Given the description of an element on the screen output the (x, y) to click on. 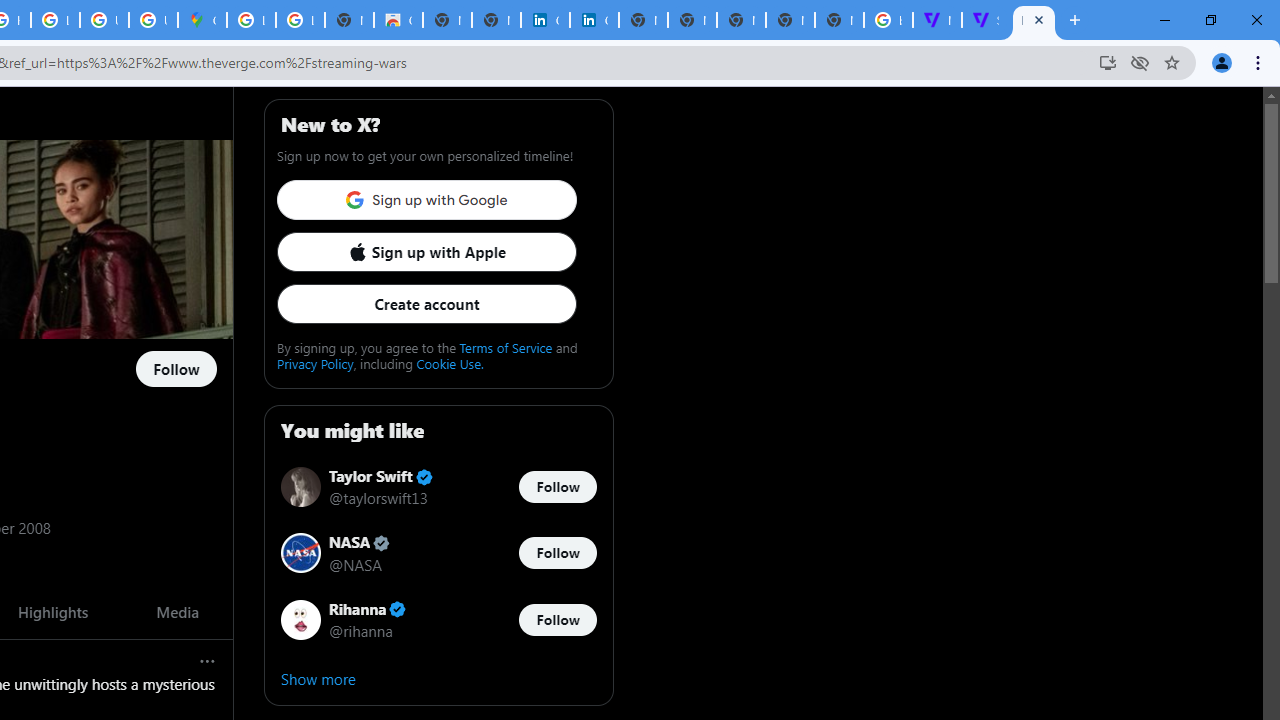
Rihanna Verified account @rihanna Follow @rihanna (438, 619)
Sign up with Google (426, 200)
Show more (438, 678)
Next (211, 612)
Follow @taylorswift13 (557, 486)
Cookie Use. (449, 363)
More (207, 660)
Taylor Swift Verified account (380, 476)
